Given the description of an element on the screen output the (x, y) to click on. 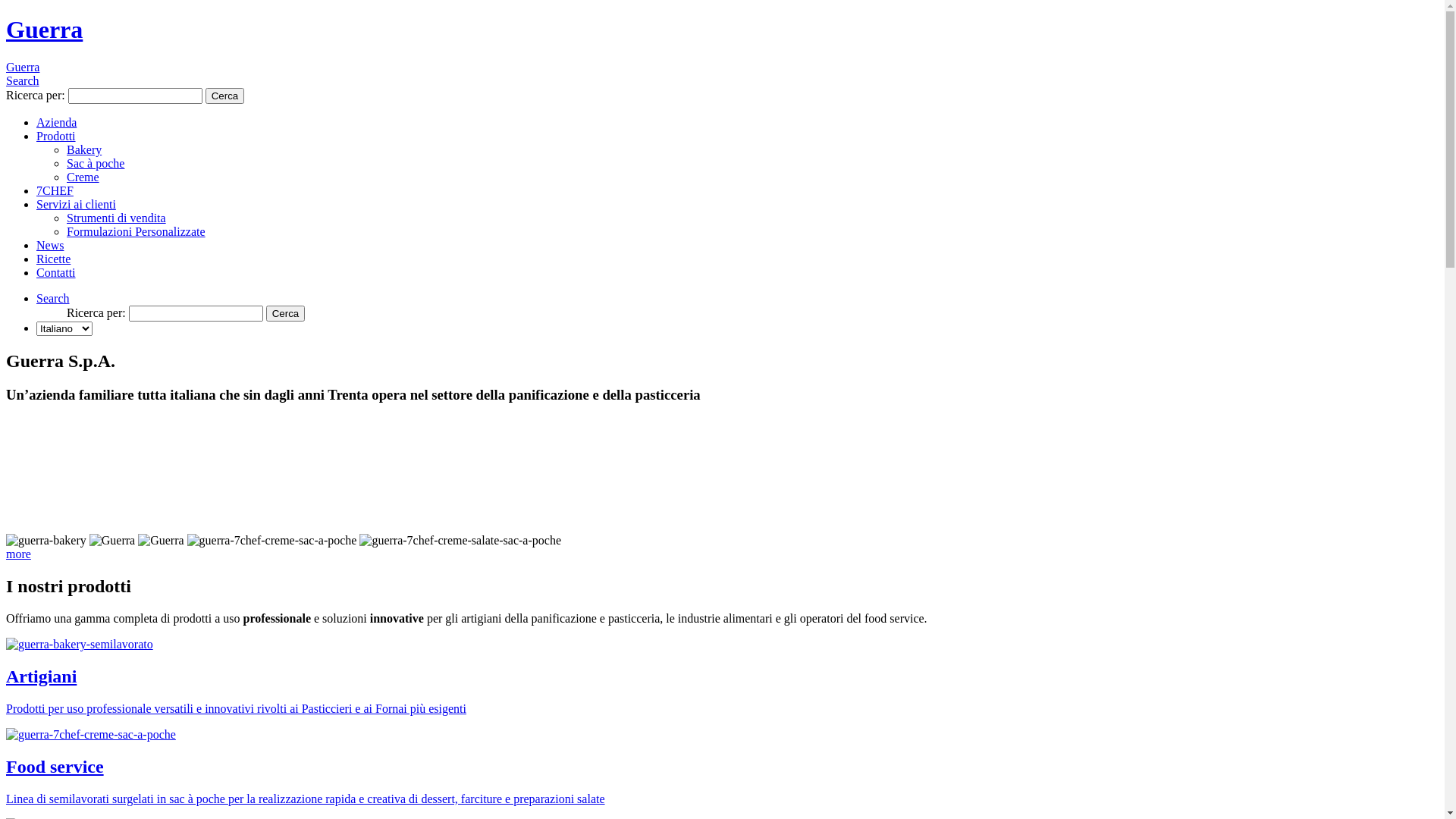
Prodotti Element type: text (55, 135)
Creme Element type: text (82, 176)
Guerra Element type: text (22, 66)
Servizi ai clienti Element type: text (76, 203)
Search Element type: text (52, 297)
Formulazioni Personalizzate Element type: text (135, 231)
Contatti Element type: text (55, 272)
News Element type: text (49, 244)
Bakery Element type: text (83, 149)
7CHEF Element type: text (54, 190)
Strumenti di vendita Element type: text (116, 217)
Cerca Element type: text (224, 95)
Ricette Element type: text (53, 258)
more Element type: text (18, 553)
Search Element type: text (22, 80)
Cerca Element type: text (285, 313)
Azienda Element type: text (56, 122)
Guerra Element type: text (44, 29)
